Given the description of an element on the screen output the (x, y) to click on. 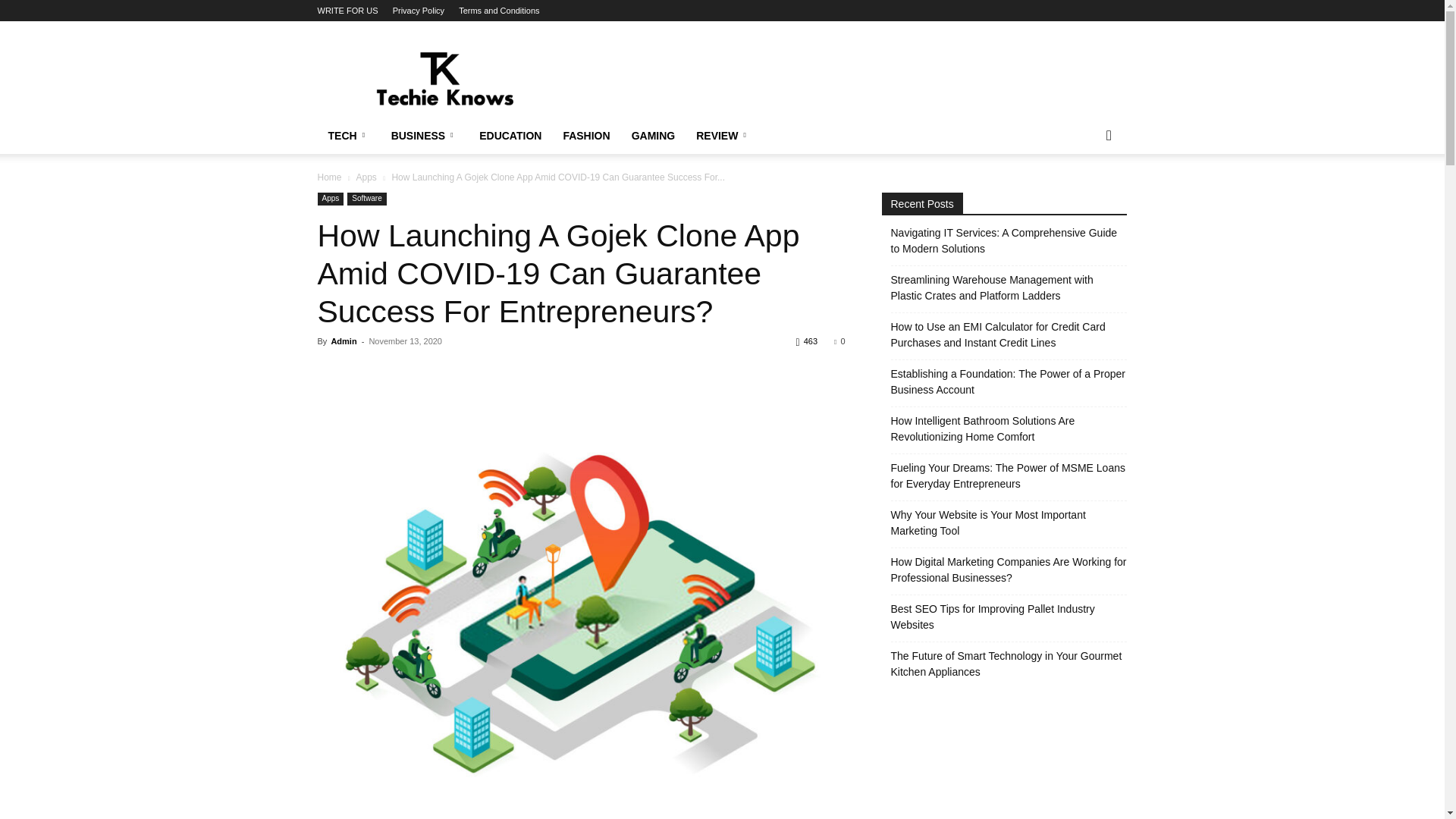
FASHION (585, 135)
BUSINESS (424, 135)
REVIEW (723, 135)
TECH (348, 135)
Terms and Conditions (498, 10)
GAMING (653, 135)
WRITE FOR US (347, 10)
Privacy Policy (418, 10)
EDUCATION (509, 135)
